Given the description of an element on the screen output the (x, y) to click on. 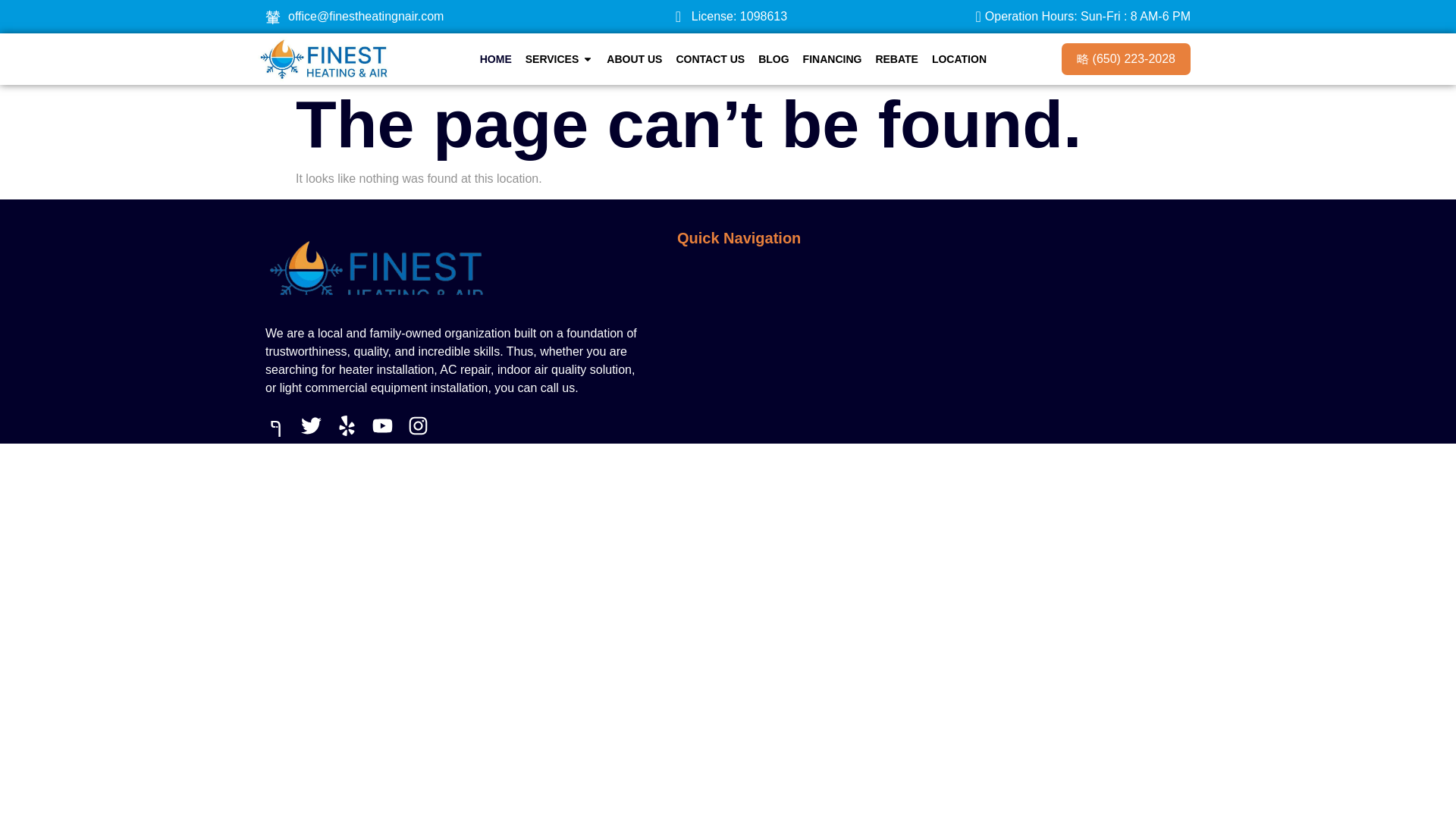
HOME (496, 59)
ABOUT US (634, 59)
CONTACT US (709, 59)
FINANCING (832, 59)
REBATE (896, 59)
LOCATION (959, 59)
BLOG (773, 59)
